Given the description of an element on the screen output the (x, y) to click on. 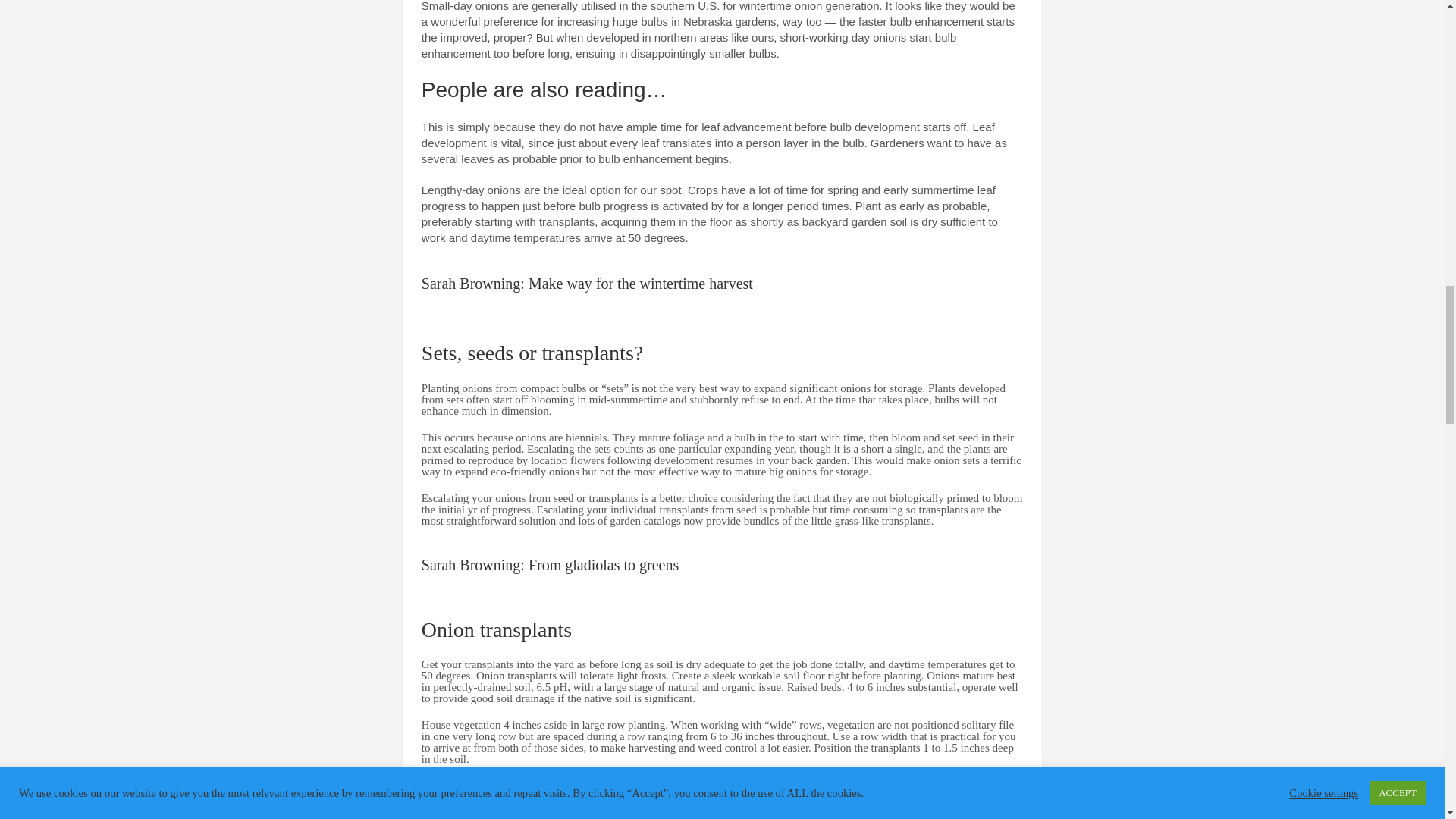
Article (550, 557)
Article (587, 276)
